Given the description of an element on the screen output the (x, y) to click on. 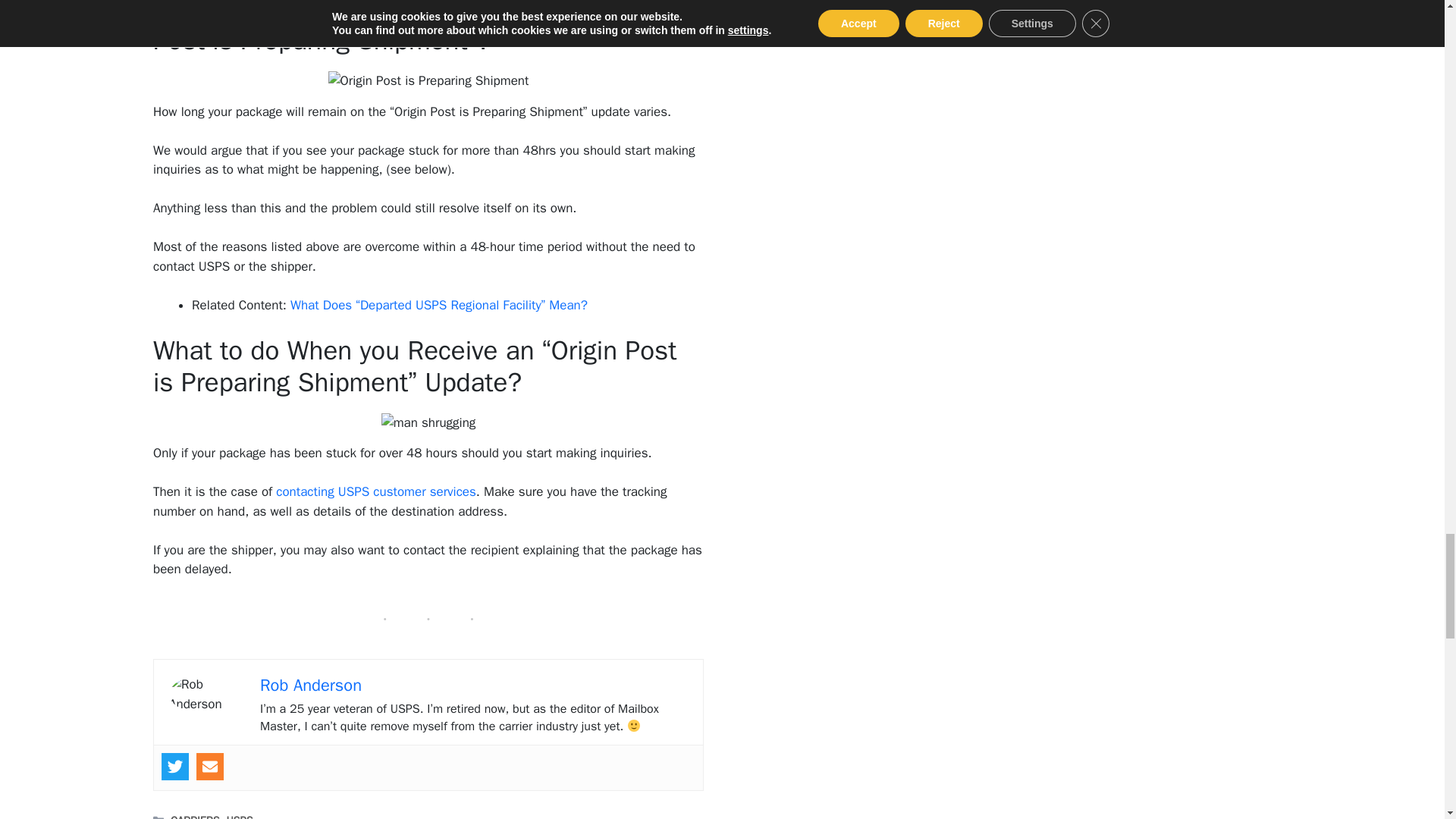
Rob Anderson (310, 685)
USPS "Origin Post Is Preparing Shipment" Meaning 8 (429, 86)
USPS (238, 816)
CARRIERS (194, 816)
contacting USPS customer services (376, 491)
